Given the description of an element on the screen output the (x, y) to click on. 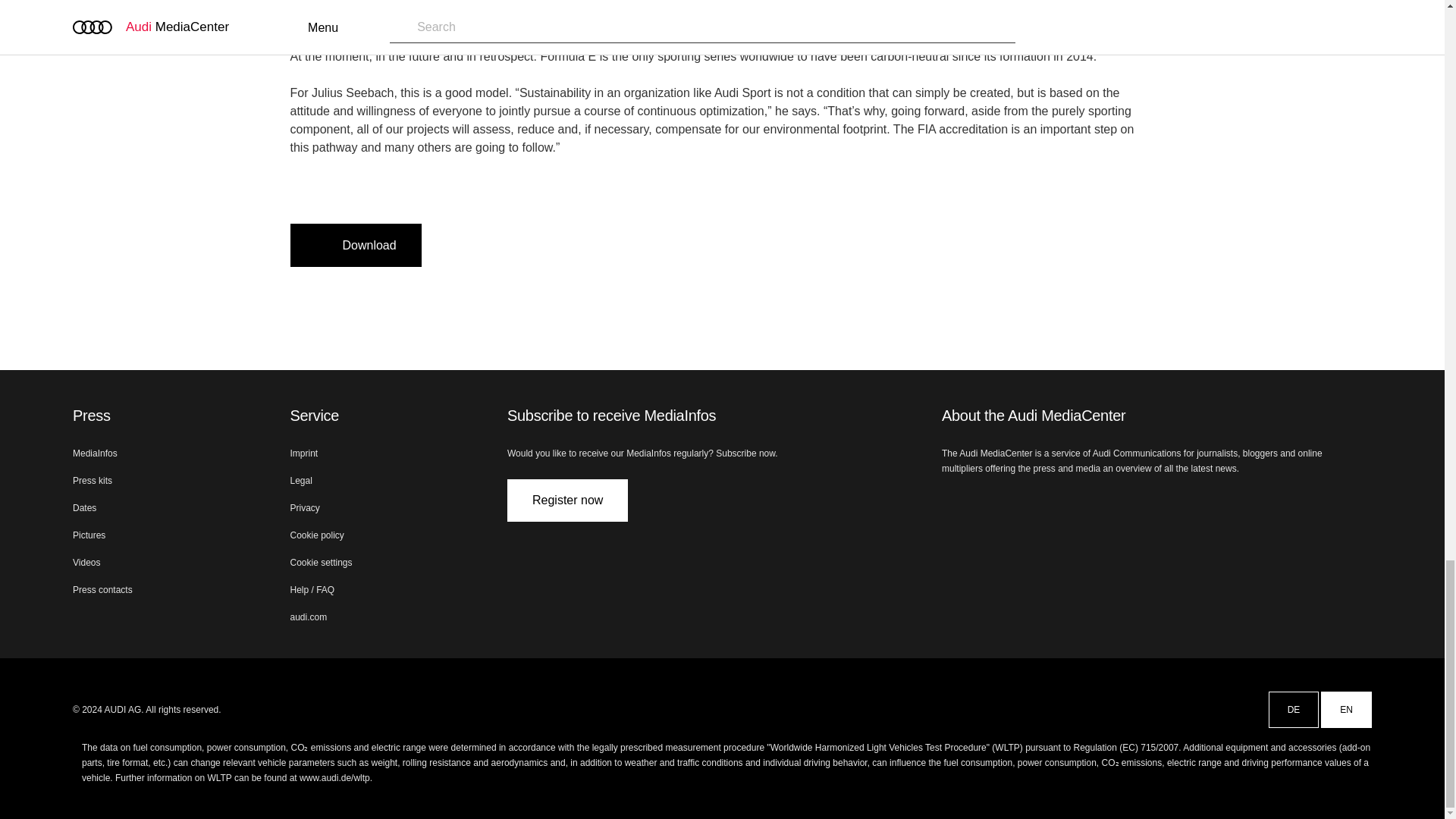
LinkedIn (986, 503)
Copy MediaInfo URL (485, 244)
Instagram (1059, 503)
Download (354, 244)
Add to cart (448, 244)
Audi.com (950, 503)
Subscribe to RSS feed (1132, 503)
Share this page (521, 244)
Facebook (1023, 503)
YouTube (1096, 503)
